Given the description of an element on the screen output the (x, y) to click on. 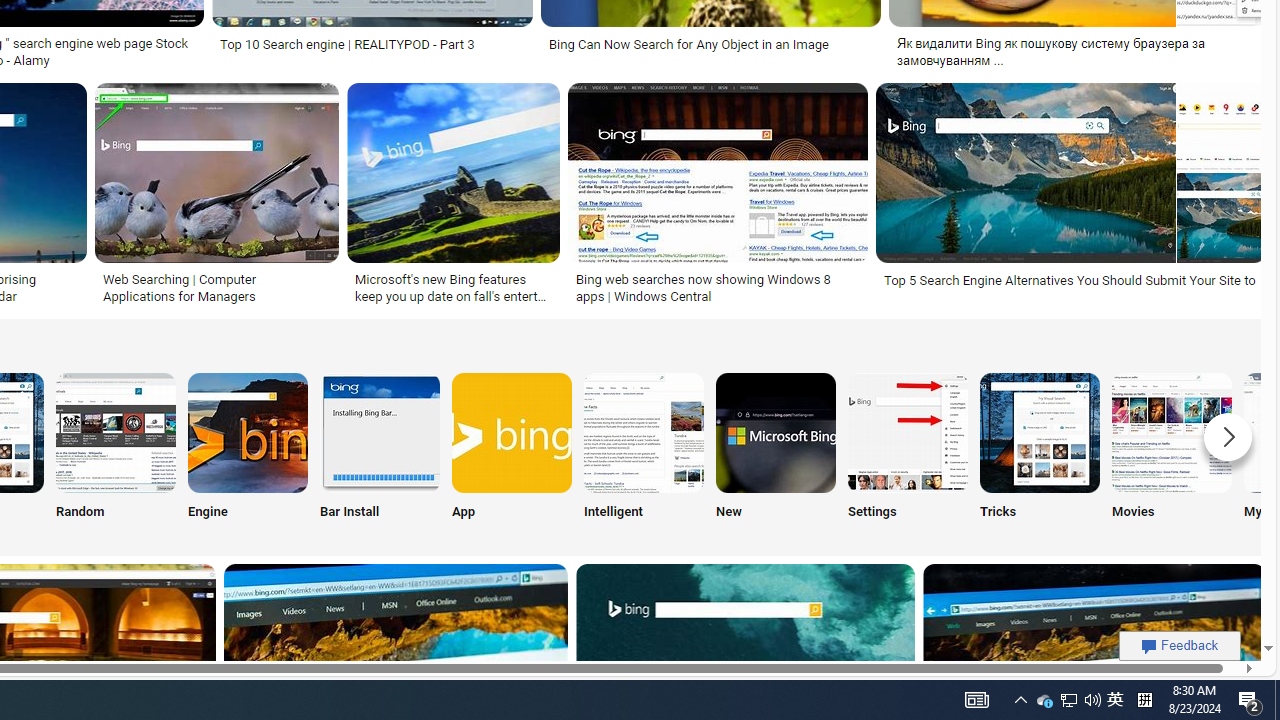
App (511, 450)
Bing the Search Engine Engine (248, 450)
Bing Can Now Search for Any Object in an Image (689, 44)
Bing Search Settings (907, 432)
Web Searching | Computer Applications for ManagersSave (220, 196)
Bing Search Settings Settings (907, 450)
Bing Intelligent Search (643, 432)
Scroll more suggestions right (1227, 436)
Web Searching | Computer Applications for Managers (216, 287)
Bing Search Bar Install Bar Install (380, 450)
Bing Search App (511, 432)
Bing Search Tricks (1039, 432)
